Given the description of an element on the screen output the (x, y) to click on. 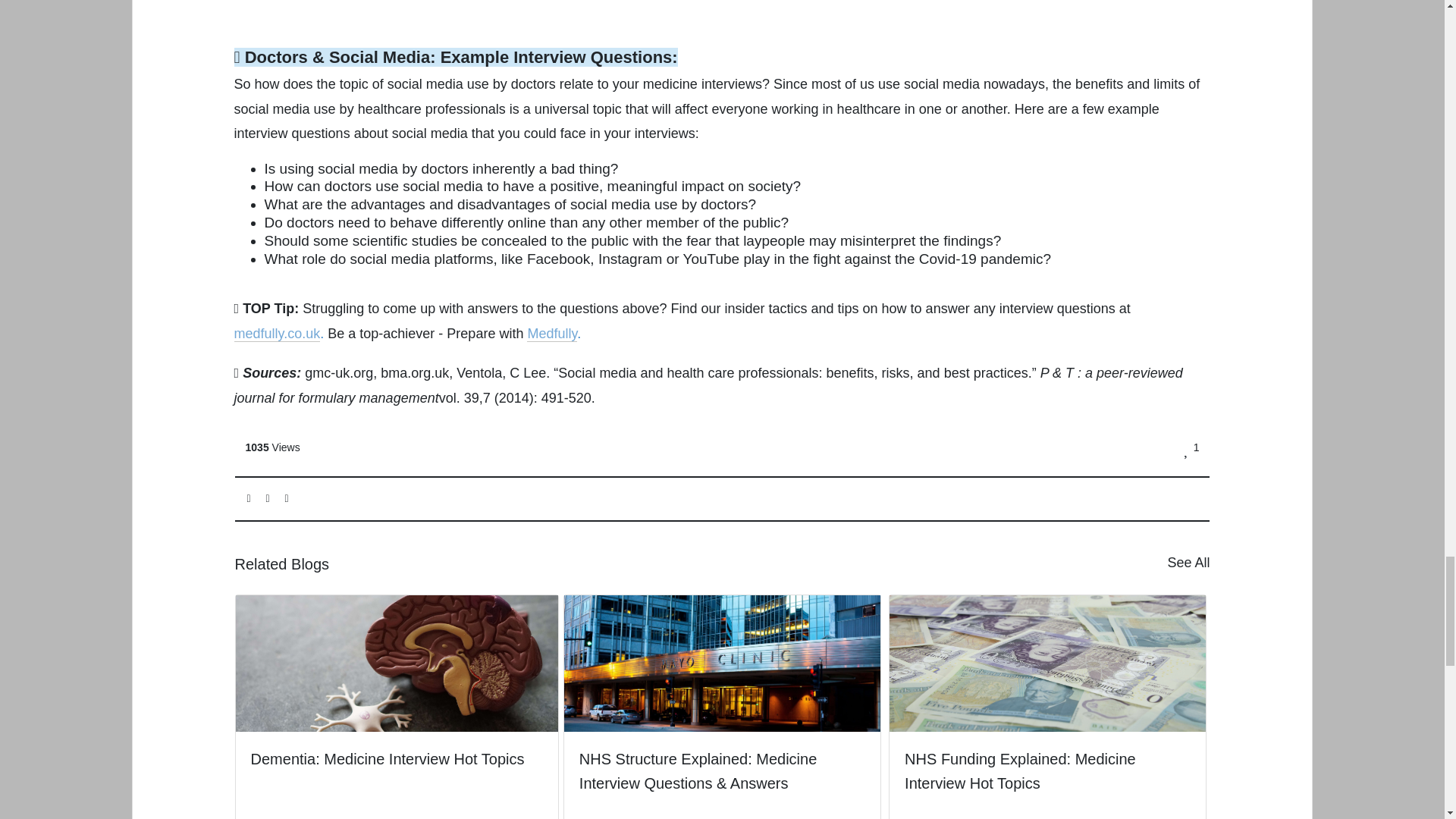
NHS Funding Explained: Medicine Interview Hot Topics (1047, 707)
bma.org.uk (414, 372)
Dementia: Medicine Interview Hot Topics (396, 695)
Medfully (551, 333)
gmc-uk.org (338, 372)
See All (1188, 562)
medfully.co.uk (277, 333)
